Given the description of an element on the screen output the (x, y) to click on. 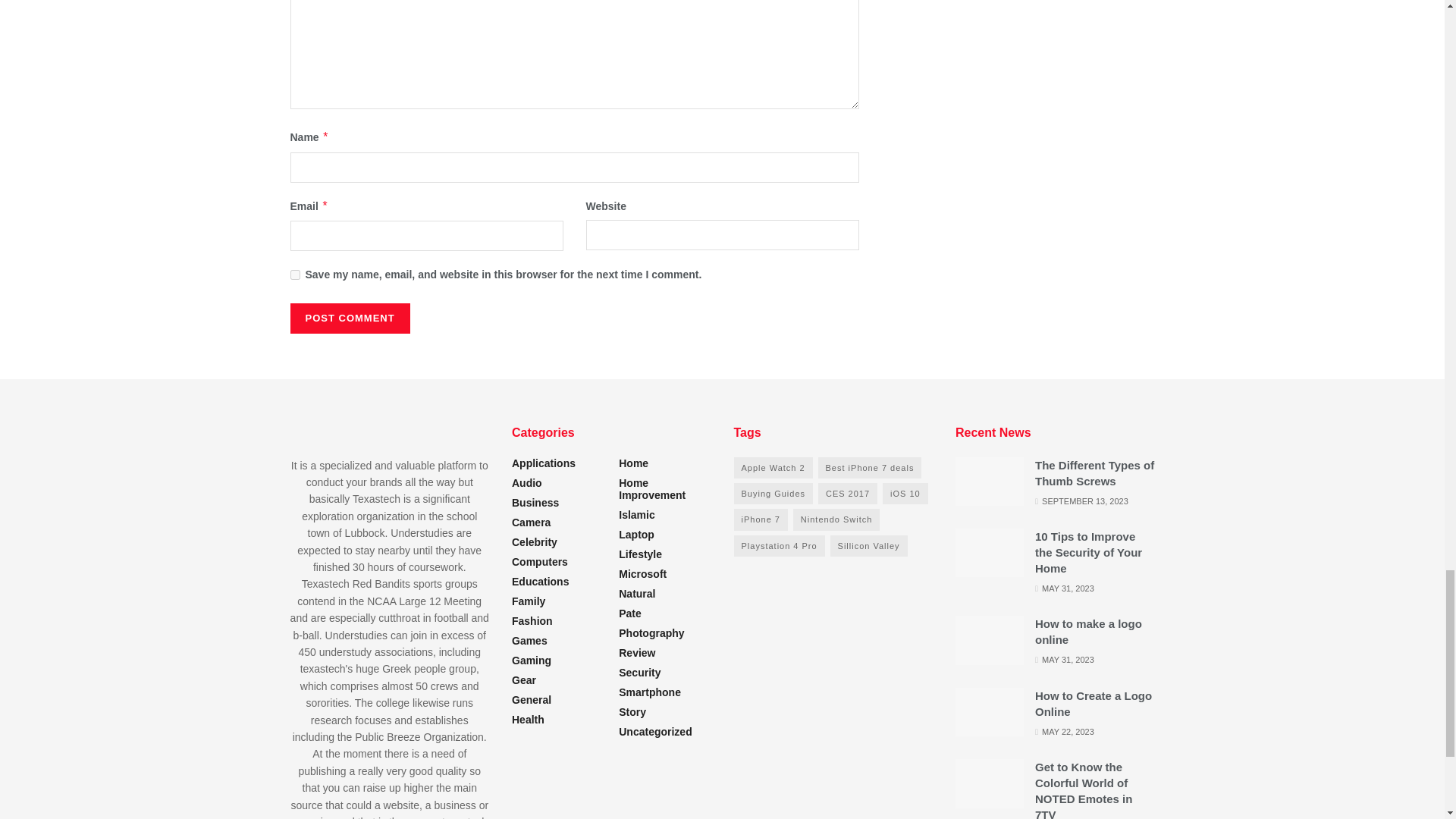
yes (294, 275)
Post Comment (349, 318)
